Given the description of an element on the screen output the (x, y) to click on. 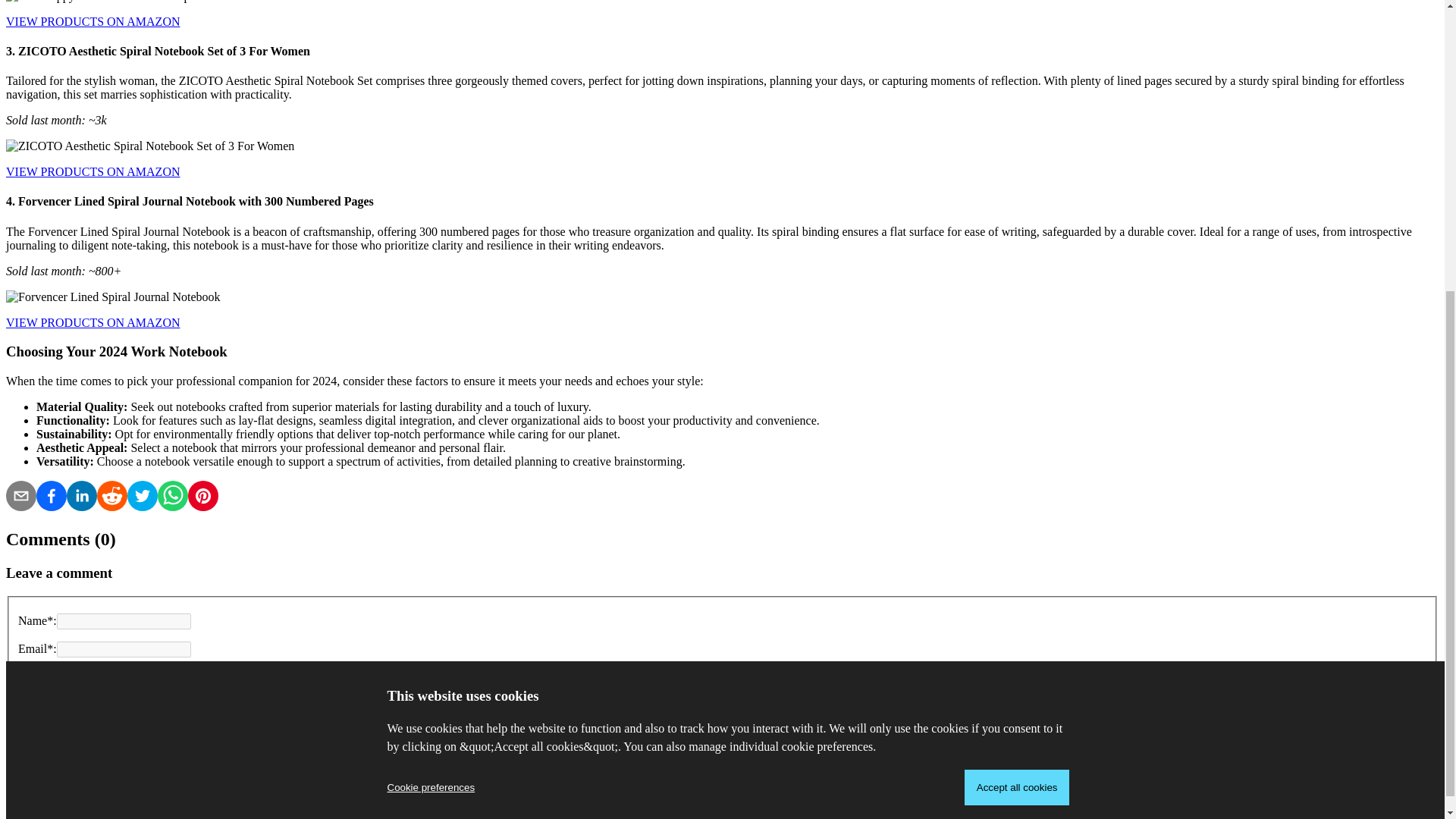
Name to be displayed on comment, 30 symbols max (123, 621)
Send (23, 763)
VIEW PRODUCTS ON AMAZON (92, 171)
Legal notices and Privacy policy (115, 803)
Accept all cookies (1016, 333)
VIEW PRODUCTS ON AMAZON (92, 21)
VIEW PRODUCTS ON AMAZON (92, 322)
A valid email address of the author (123, 649)
Cookie preferences (430, 333)
